Given the description of an element on the screen output the (x, y) to click on. 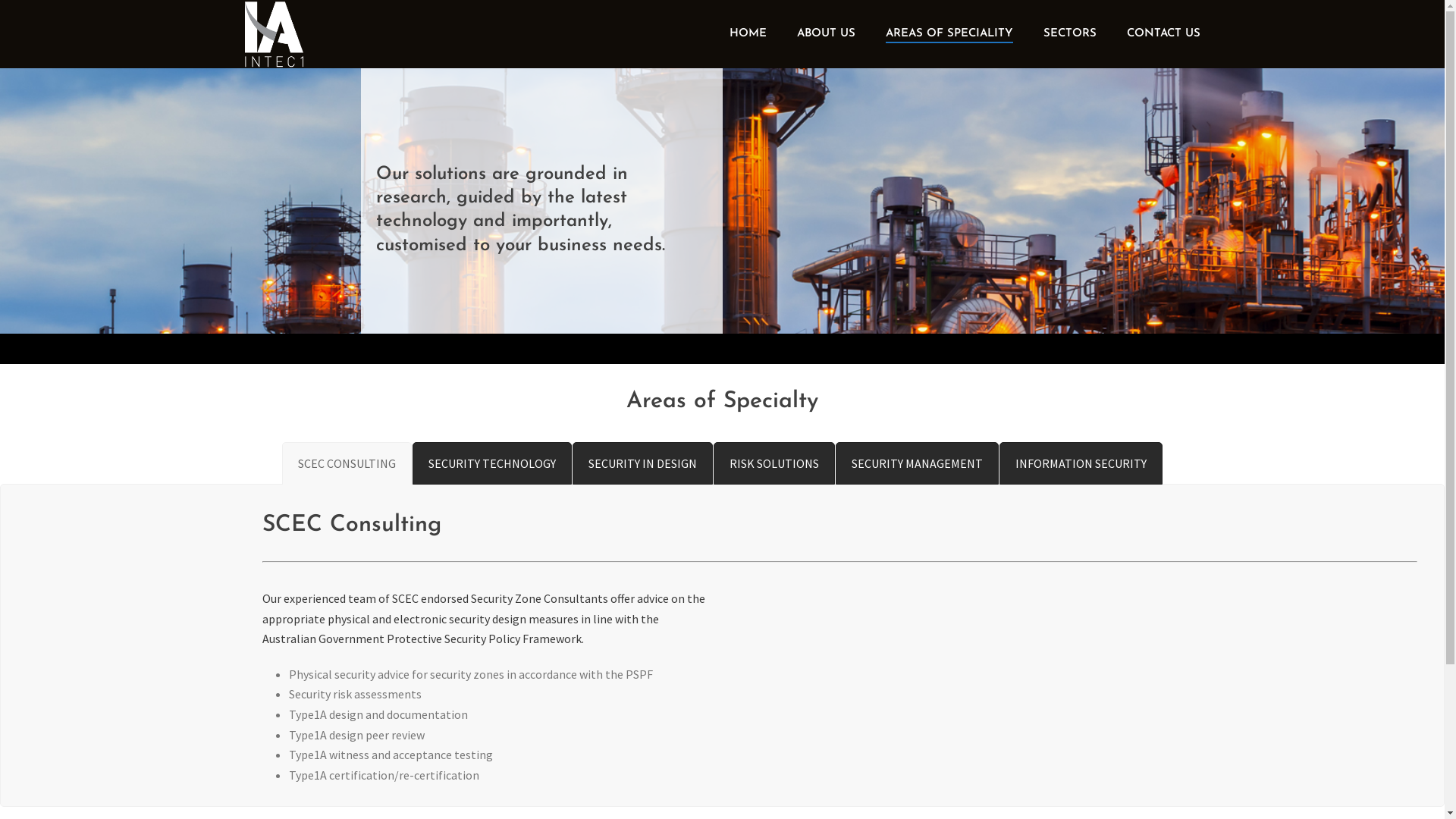
CONTACT US Element type: text (1163, 34)
ABOUT US Element type: text (825, 34)
SCEC CONSULTING Element type: text (346, 463)
SECURITY TECHNOLOGY Element type: text (491, 463)
HOME Element type: text (747, 34)
INFORMATION SECURITY Element type: text (1080, 463)
RISK SOLUTIONS Element type: text (773, 463)
AREAS OF SPECIALITY Element type: text (949, 34)
SECURITY IN DESIGN Element type: text (642, 463)
SECTORS Element type: text (1069, 34)
SECURITY MANAGEMENT Element type: text (916, 463)
